Given the description of an element on the screen output the (x, y) to click on. 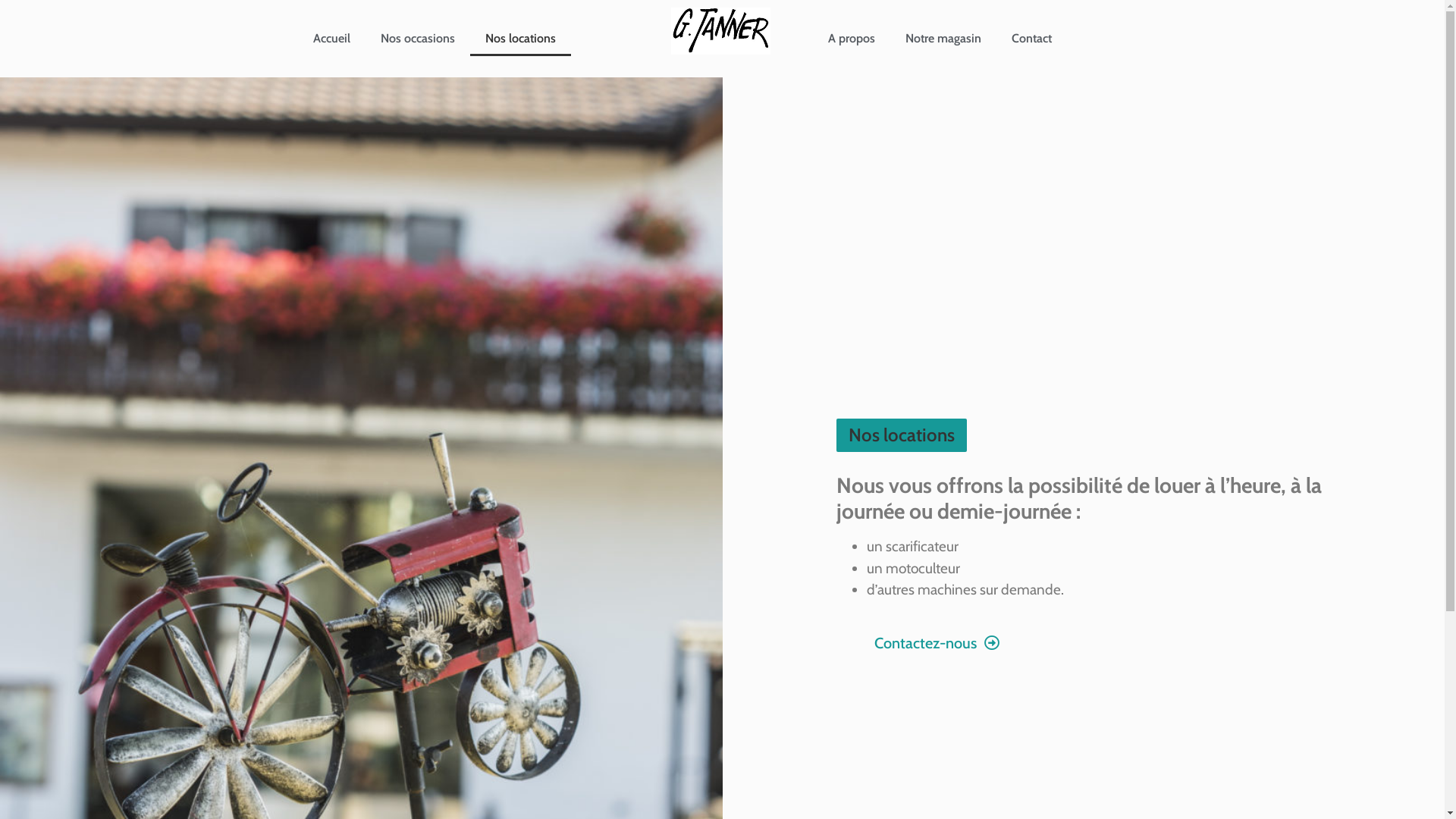
A propos Element type: text (851, 38)
Contact Element type: text (1031, 38)
Accueil Element type: text (330, 38)
Notre magasin Element type: text (943, 38)
Contactez-nous Element type: text (935, 642)
Nos locations Element type: text (520, 38)
Nos occasions Element type: text (417, 38)
